Given the description of an element on the screen output the (x, y) to click on. 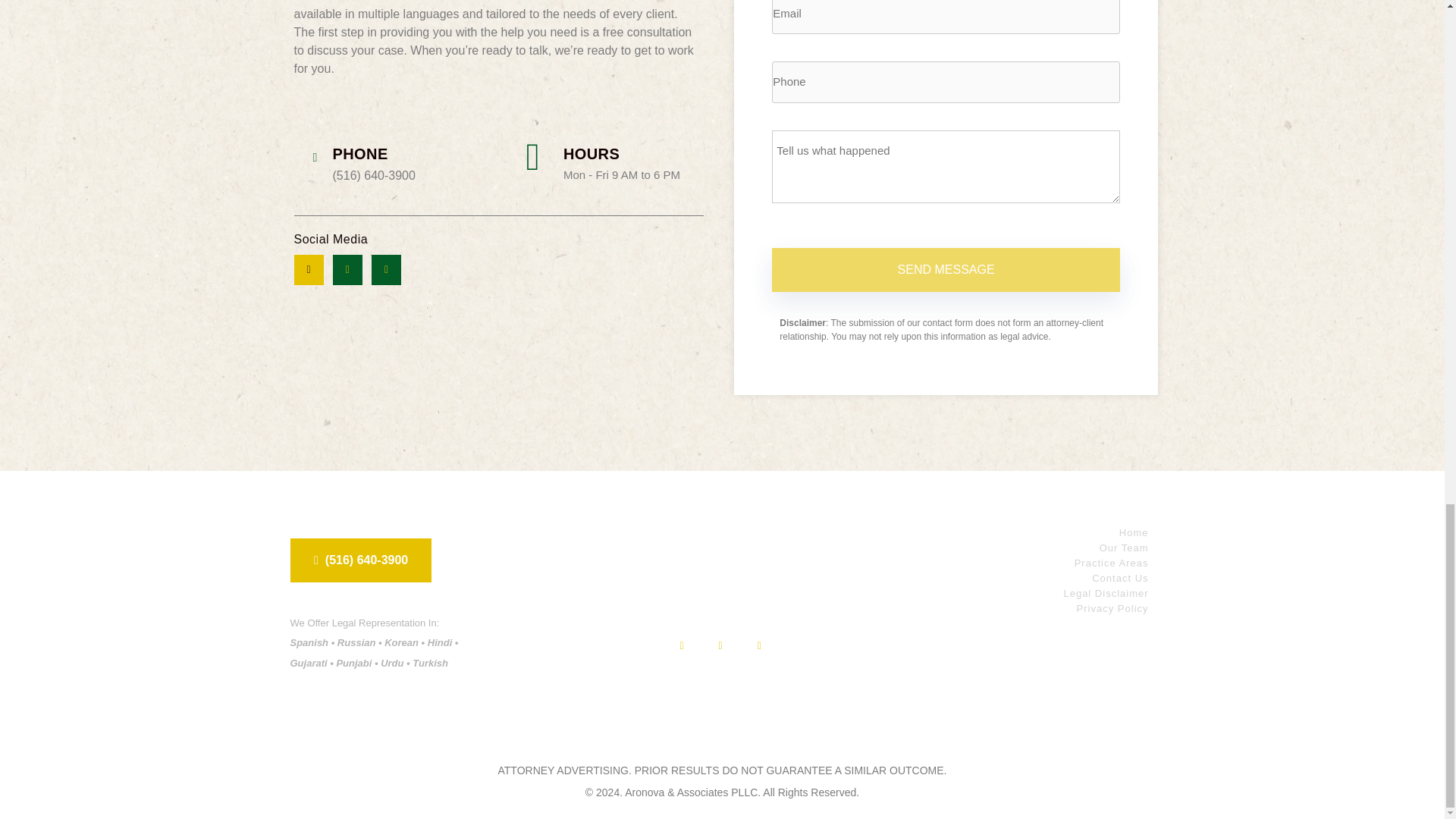
Practice Areas (1000, 563)
Our Team (1000, 548)
SEND MESSAGE (945, 269)
Home (1000, 533)
Legal Disclaimer (1000, 593)
PHONE (359, 153)
Contact Us (1000, 578)
SEND MESSAGE (945, 269)
Privacy Policy (1000, 608)
